Given the description of an element on the screen output the (x, y) to click on. 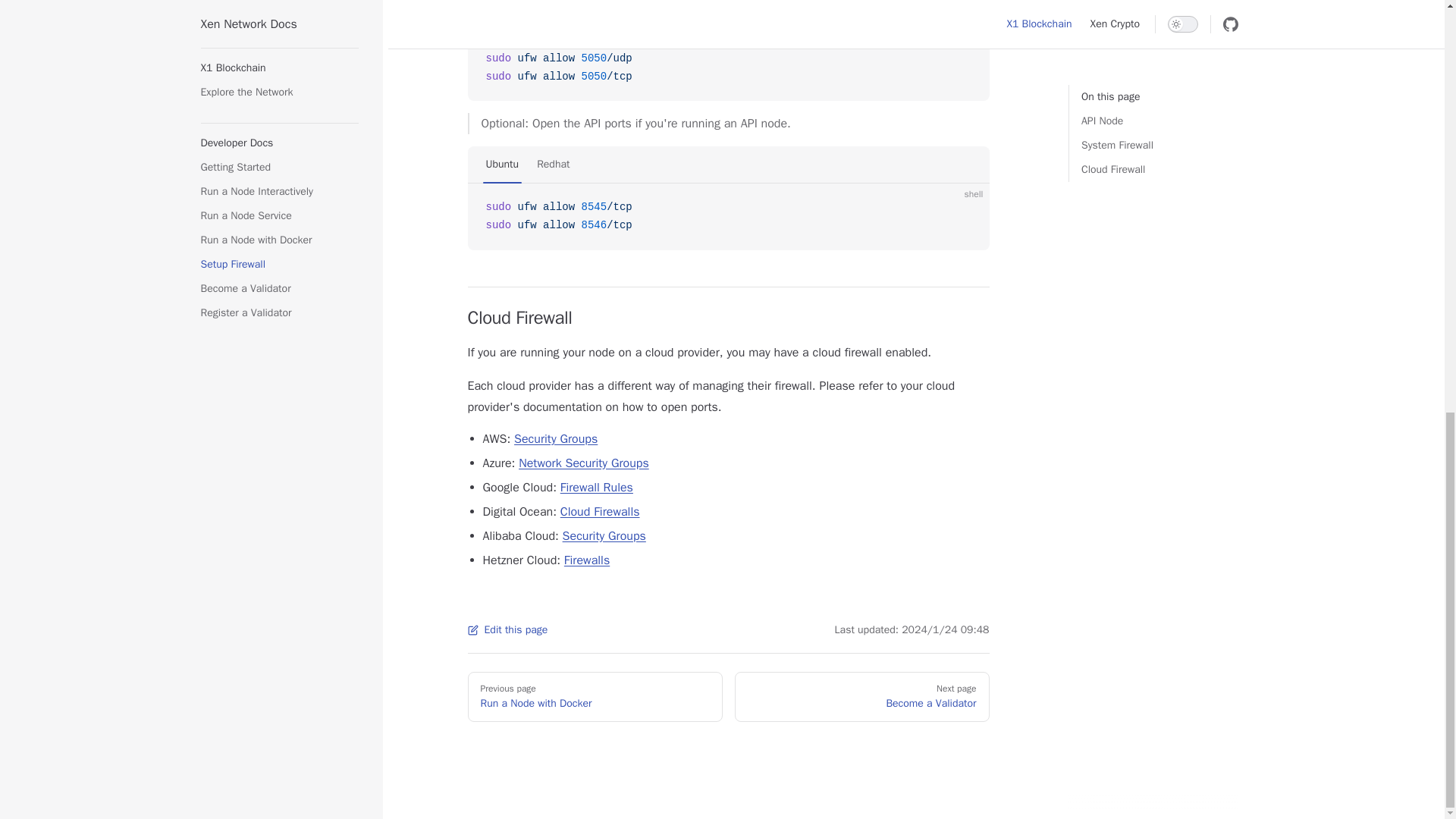
Security Groups (604, 535)
Firewalls (587, 560)
Cloud Firewalls (600, 511)
Firewall Rules (596, 487)
Security Groups (554, 438)
Network Security Groups (583, 462)
